Given the description of an element on the screen output the (x, y) to click on. 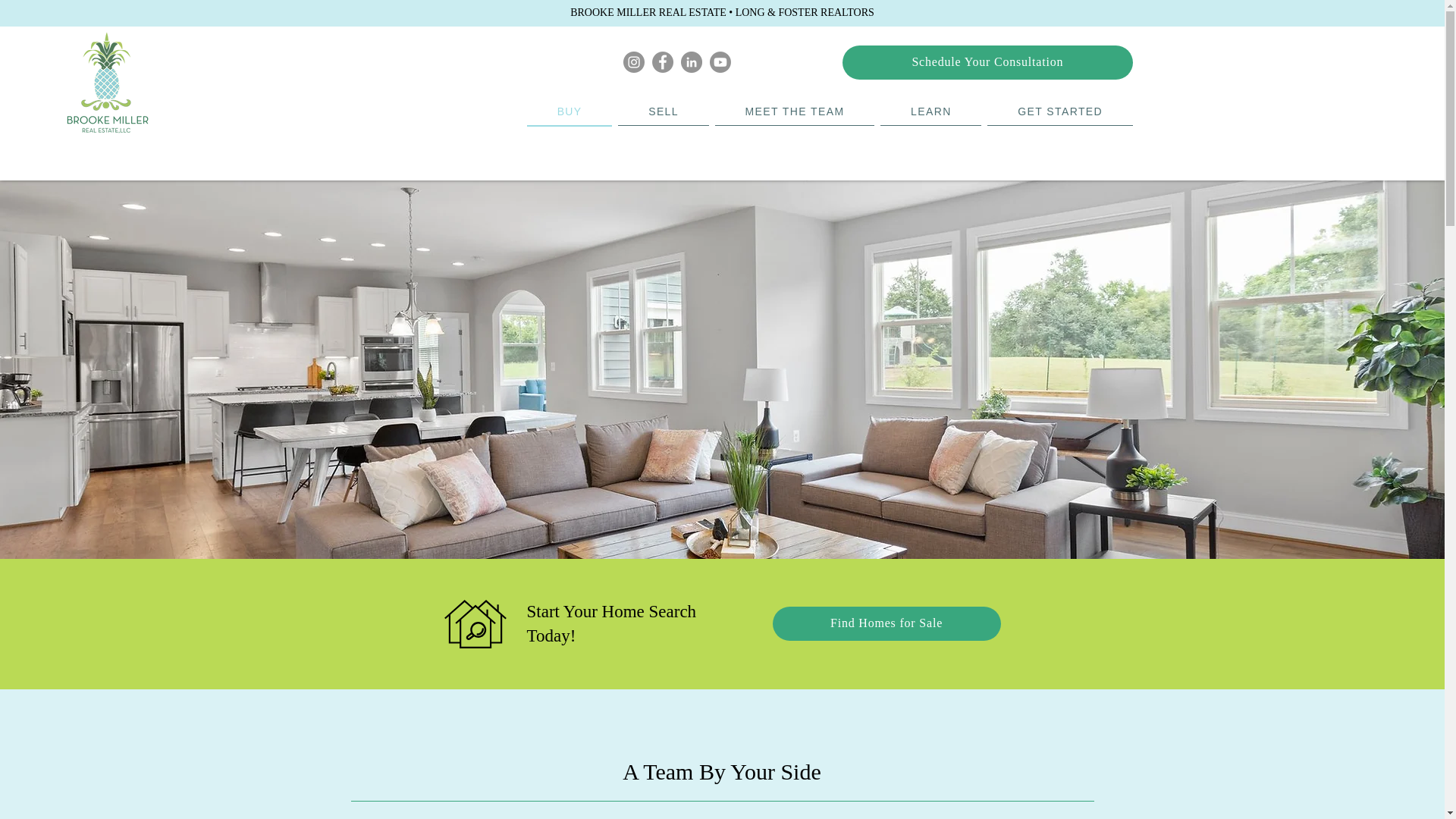
MEET THE TEAM (794, 111)
GET STARTED (1059, 111)
SELL (662, 111)
Find Homes for Sale (885, 623)
BUY (569, 111)
Schedule Your Consultation (987, 62)
